Given the description of an element on the screen output the (x, y) to click on. 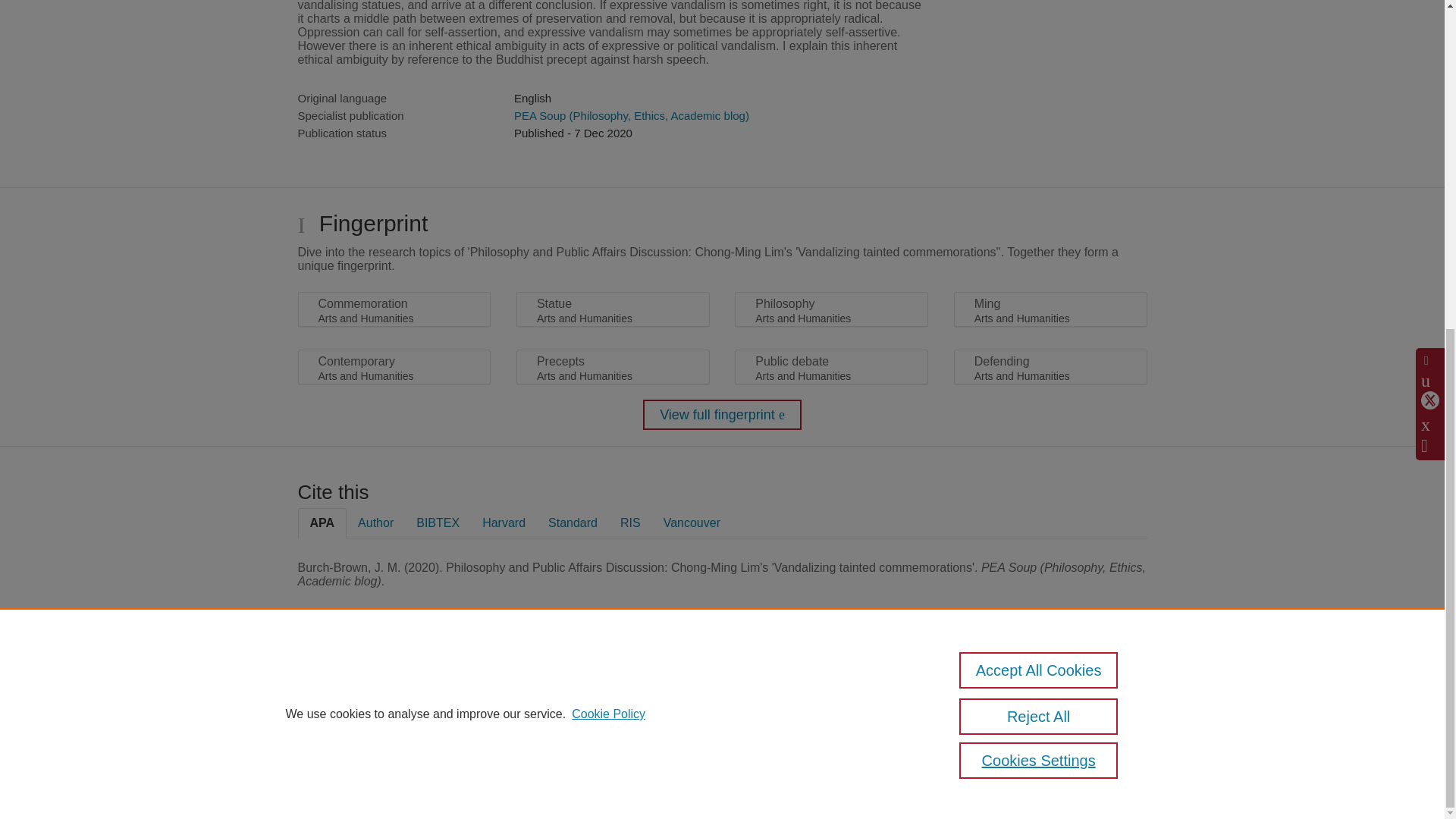
Scopus (394, 686)
Pure (362, 686)
View full fingerprint (722, 414)
